Given the description of an element on the screen output the (x, y) to click on. 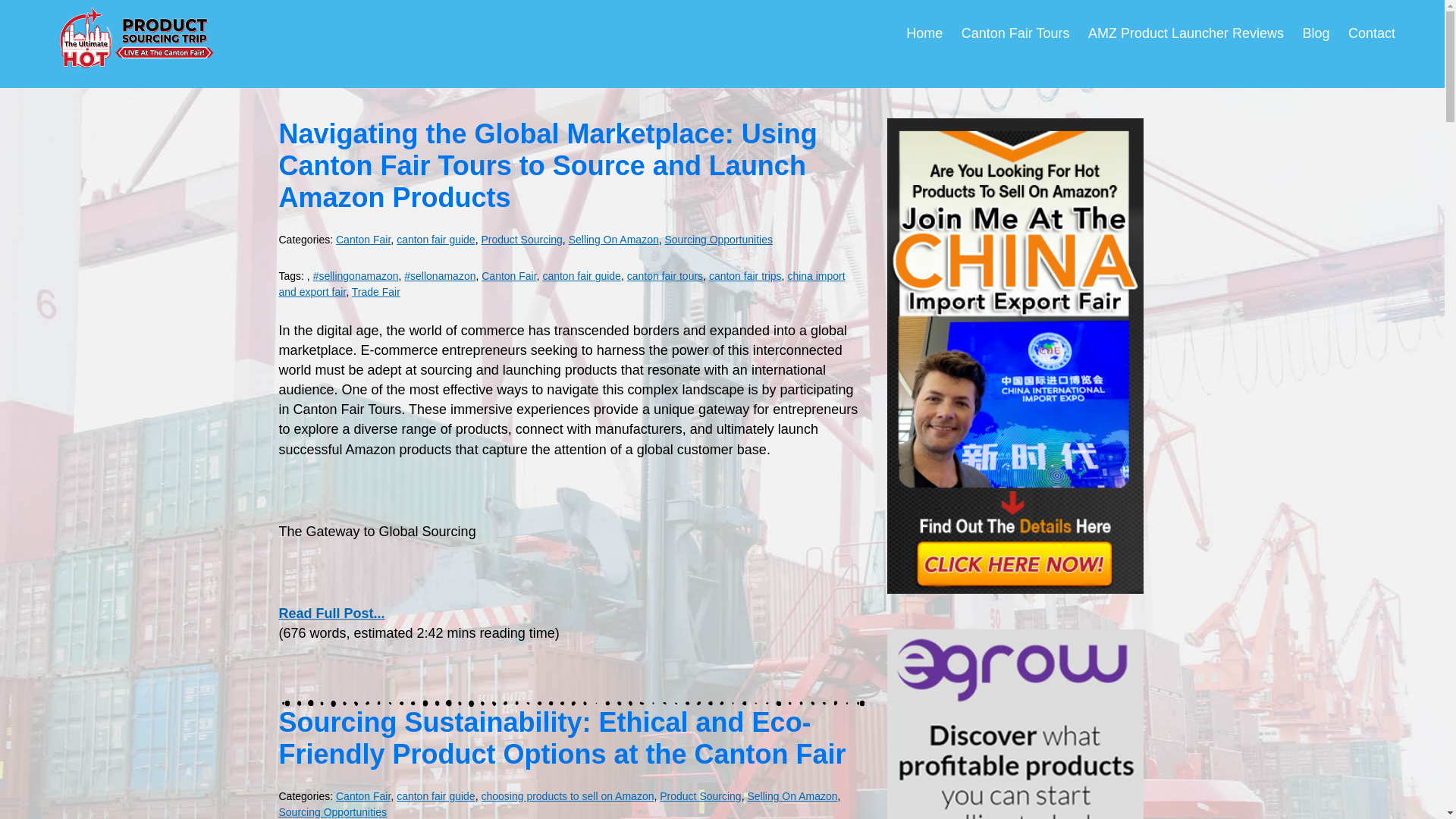
china import and export fair (562, 283)
Trade Fair (376, 291)
Blog (1315, 33)
AMZ Product Launcher Reviews (1185, 33)
Canton Fair (363, 239)
Contact (1371, 33)
Home (924, 33)
Canton Fair (508, 275)
canton fair guide (436, 239)
Import Export Coaching (136, 37)
Read Full Post... (332, 613)
Sourcing Opportunities (333, 811)
Product Sourcing (521, 239)
Selling On Amazon (791, 796)
